Given the description of an element on the screen output the (x, y) to click on. 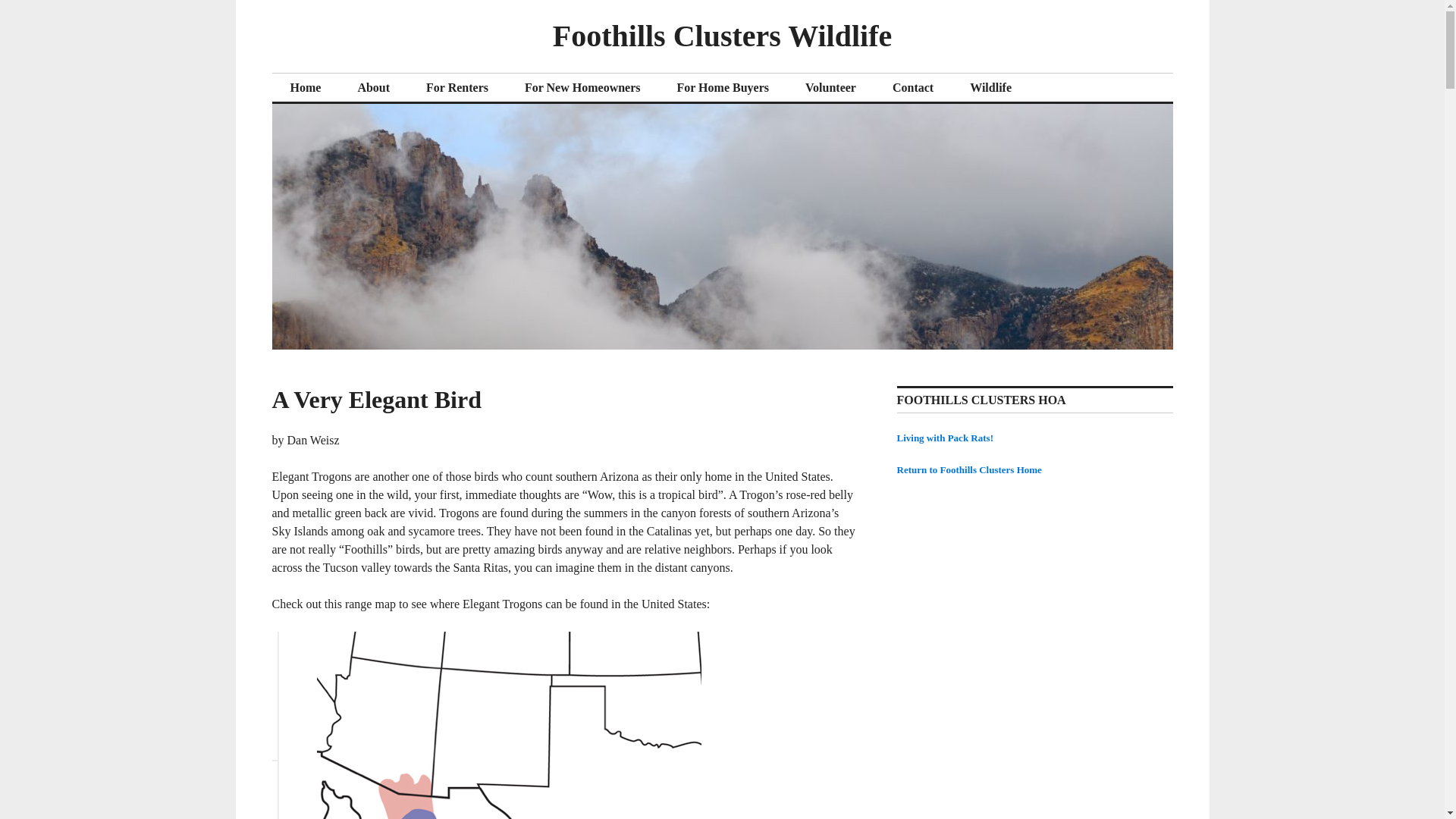
Volunteer (831, 87)
About (373, 87)
Contact (913, 87)
For New Homeowners (582, 87)
For Renters (456, 87)
Living with Pack Rats! (944, 437)
Home (304, 87)
Wildlife (990, 87)
Return to Foothills Clusters Home (968, 469)
Foothills Clusters Wildlife (722, 35)
